Given the description of an element on the screen output the (x, y) to click on. 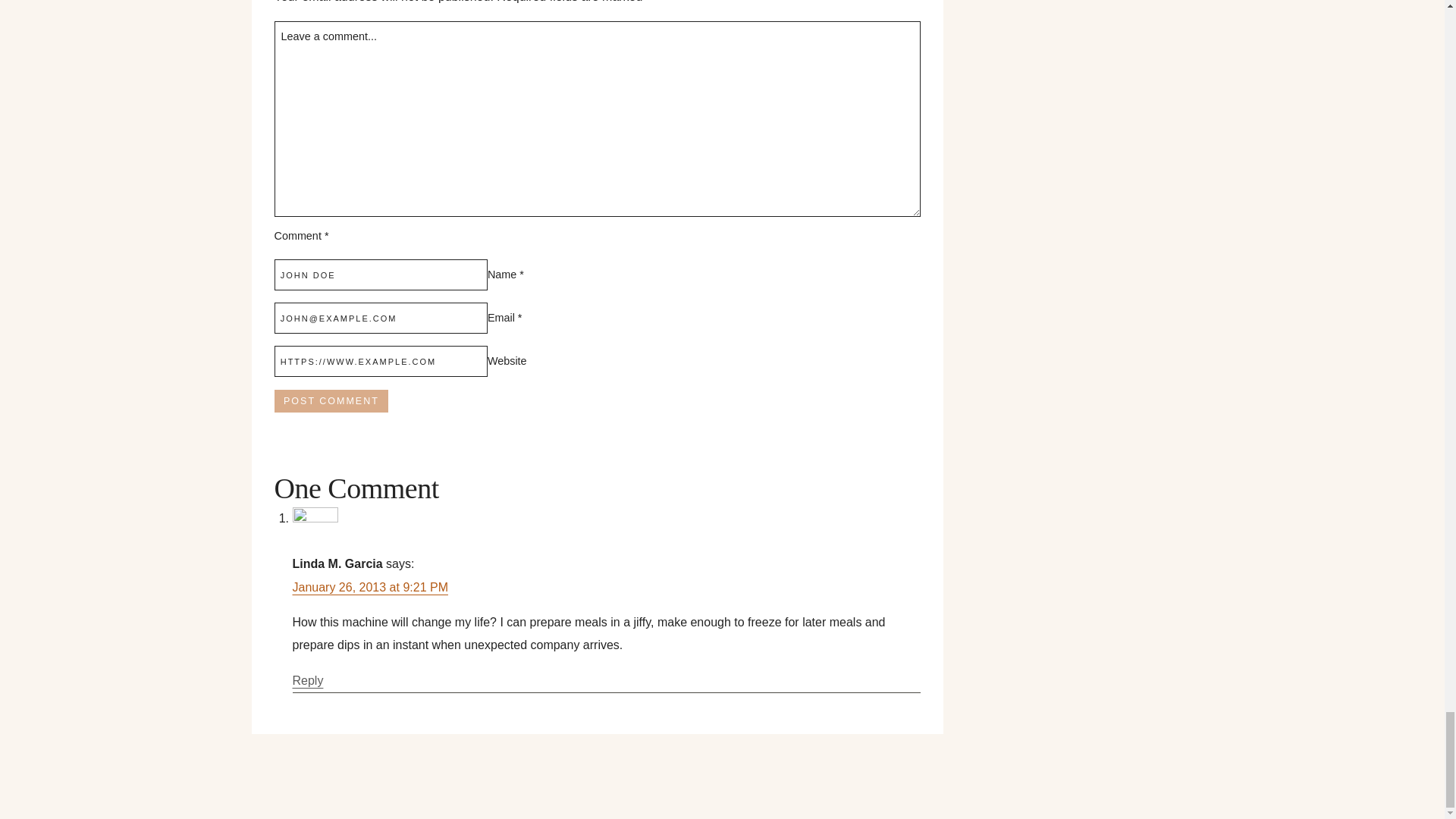
Post Comment (331, 400)
